Given the description of an element on the screen output the (x, y) to click on. 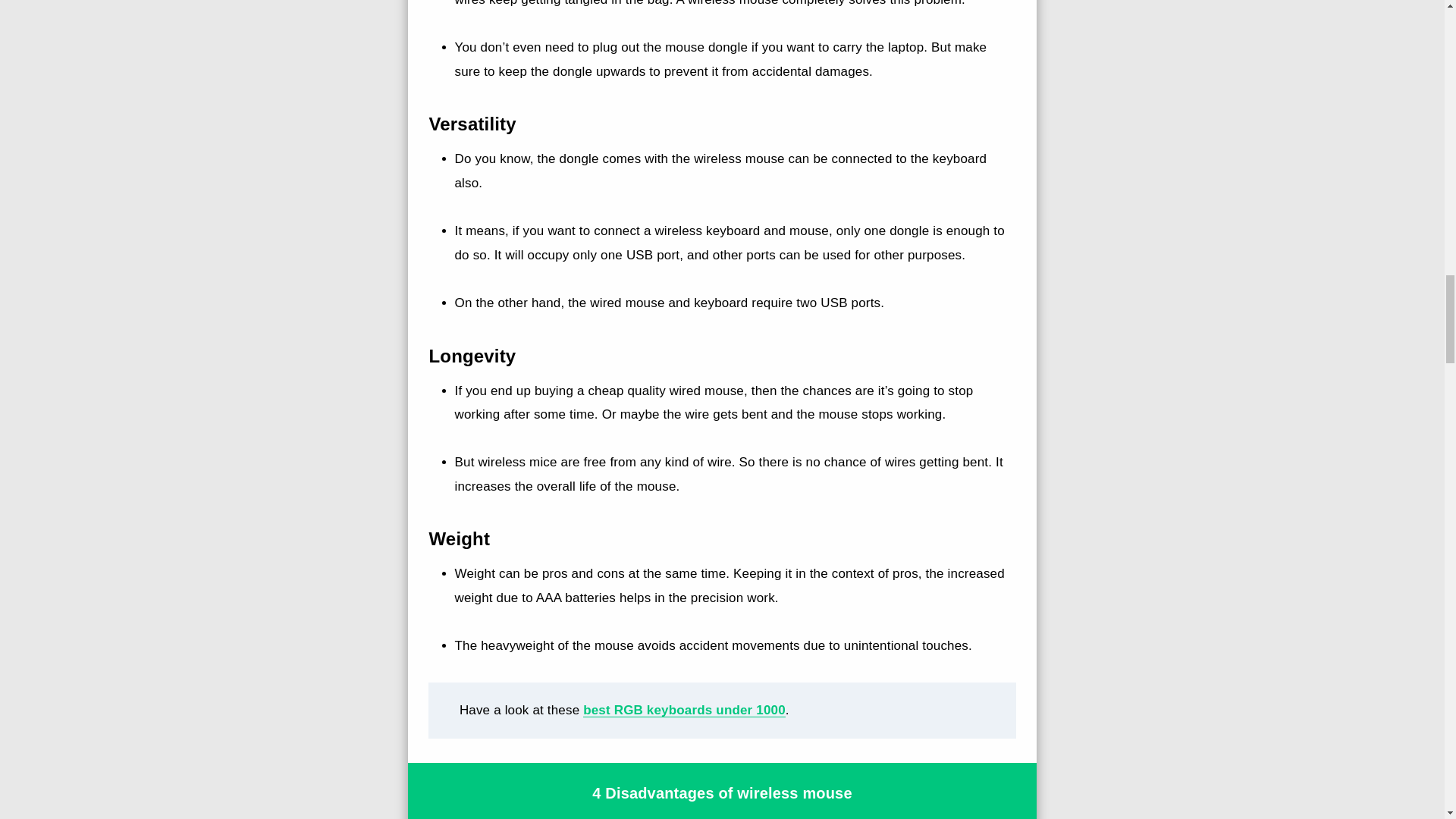
best RGB keyboards under 1000 (684, 709)
